Given the description of an element on the screen output the (x, y) to click on. 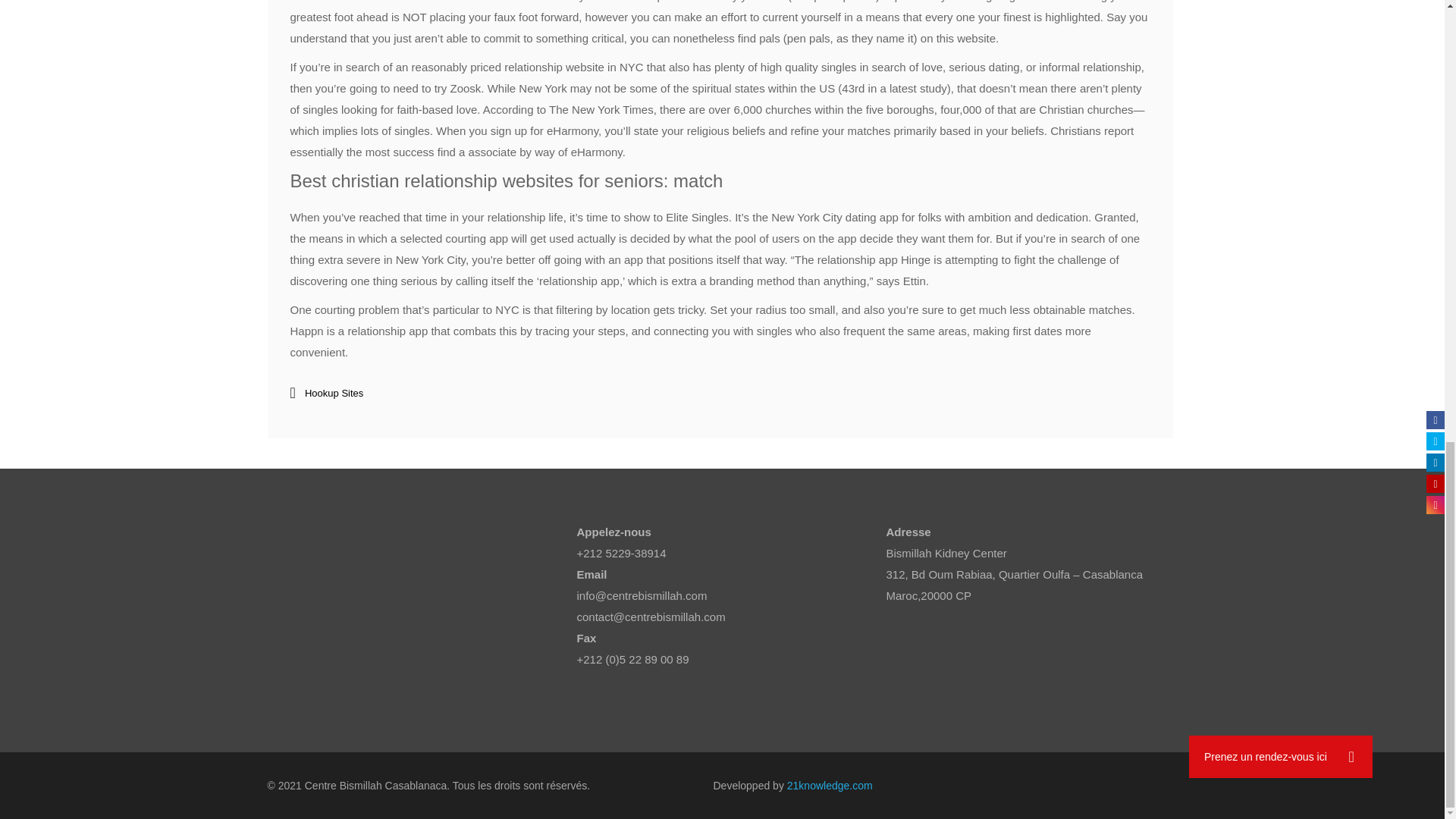
21knowledge.com (829, 785)
Hookup Sites (333, 392)
